Given the description of an element on the screen output the (x, y) to click on. 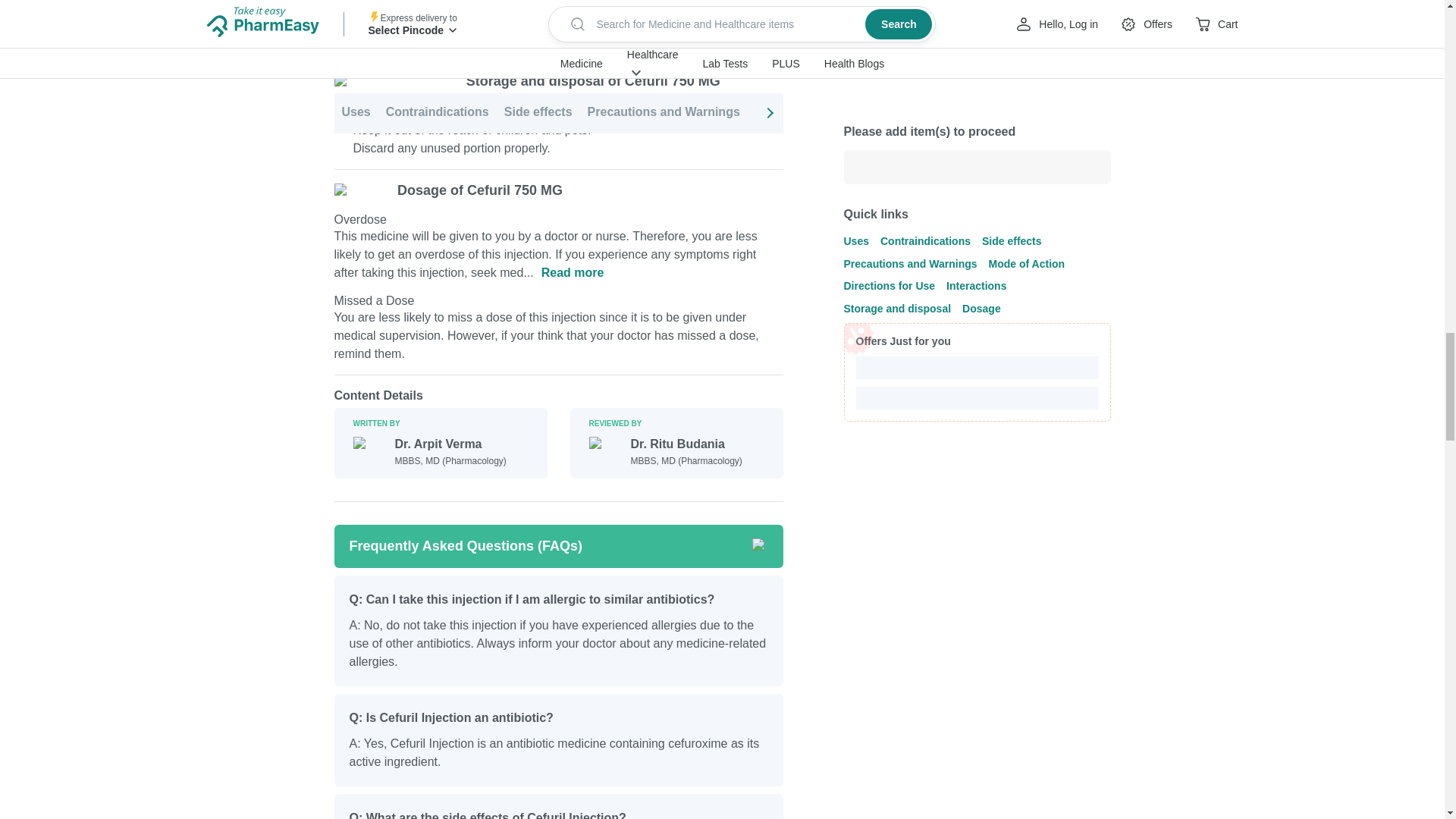
Dr. Ritu Budania (686, 444)
Dr. Arpit Verma (449, 444)
